Given the description of an element on the screen output the (x, y) to click on. 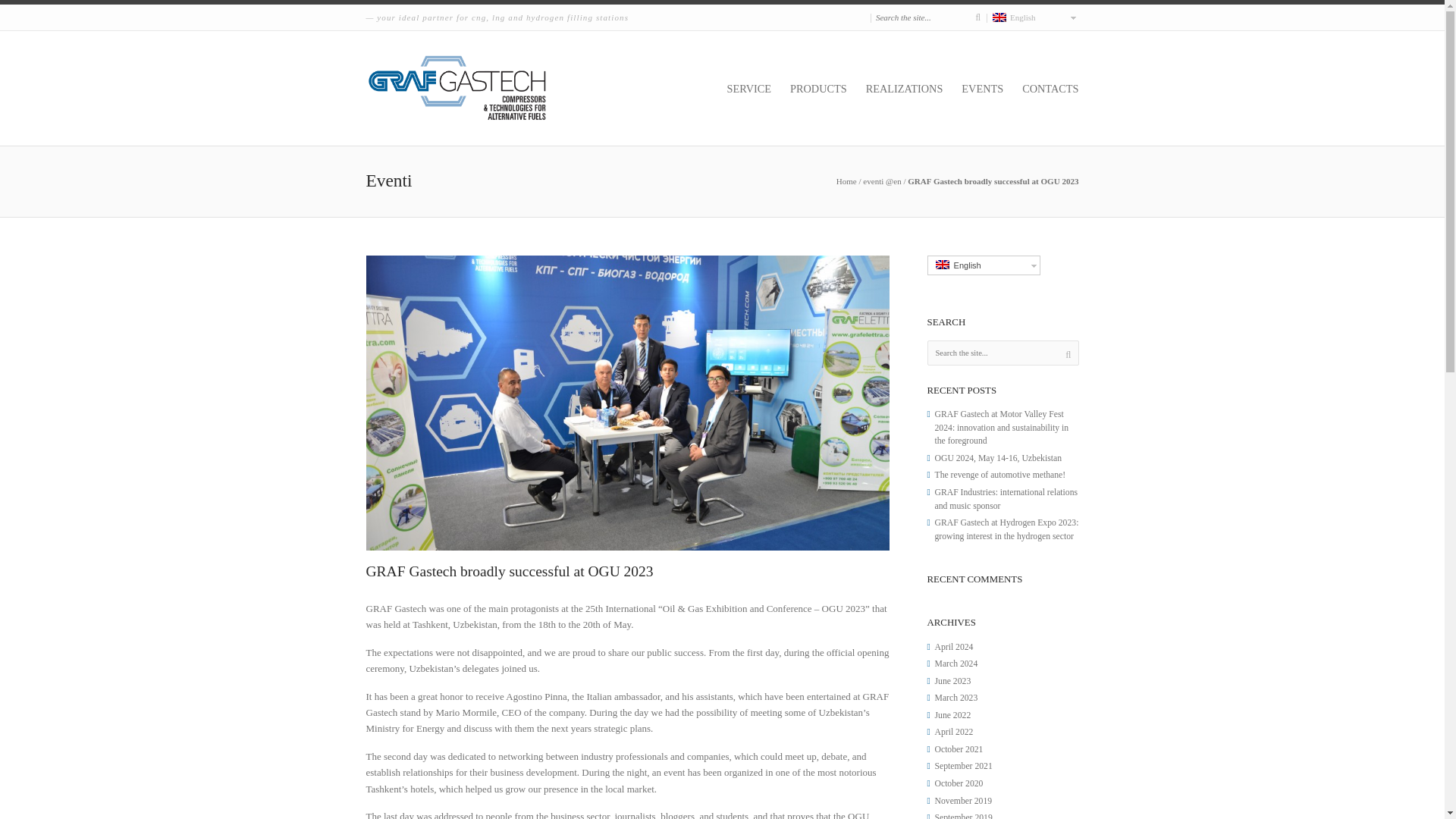
June 2022 (952, 715)
October 2020 (958, 783)
grafgastech (846, 180)
November 2019 (962, 800)
April 2022 (953, 732)
PRODUCTS (825, 88)
September 2021 (962, 766)
SERVICE (756, 88)
OGU 2024, May 14-16, Uzbekistan (997, 458)
September 2019 (962, 816)
English (942, 264)
English (998, 17)
March 2023 (955, 697)
